Given the description of an element on the screen output the (x, y) to click on. 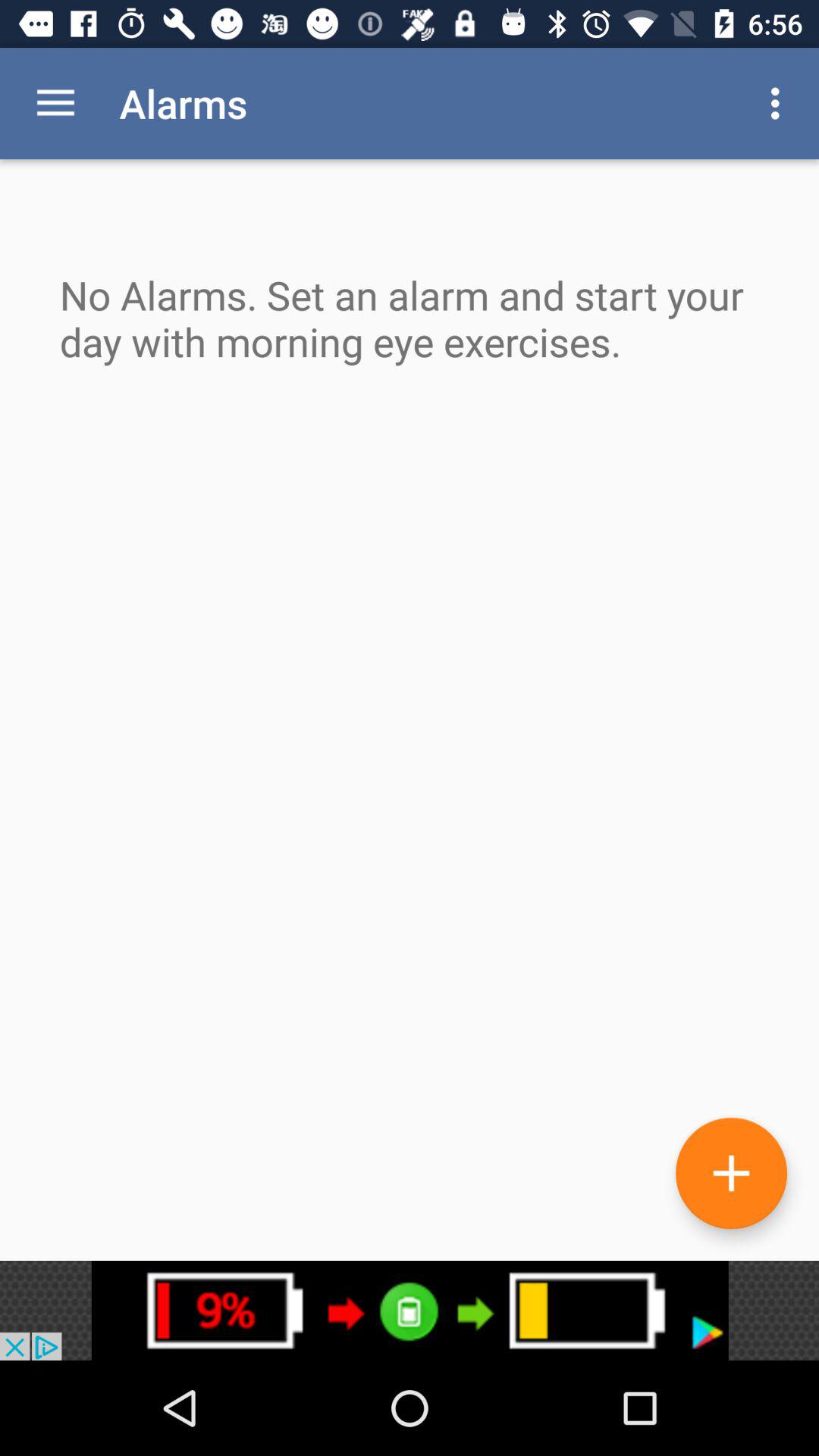
add button (731, 1173)
